Given the description of an element on the screen output the (x, y) to click on. 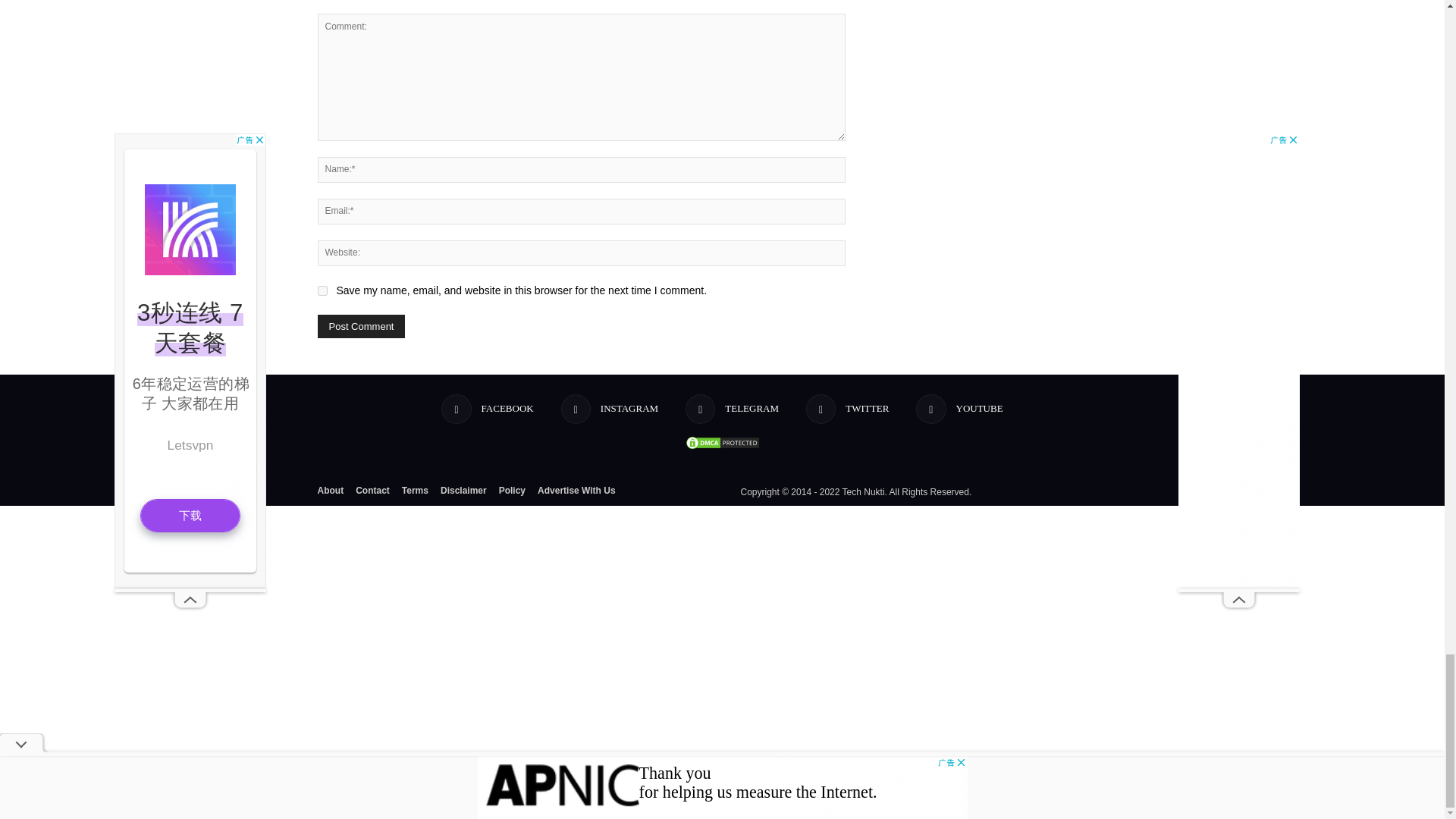
Post Comment (360, 326)
yes (321, 290)
